Given the description of an element on the screen output the (x, y) to click on. 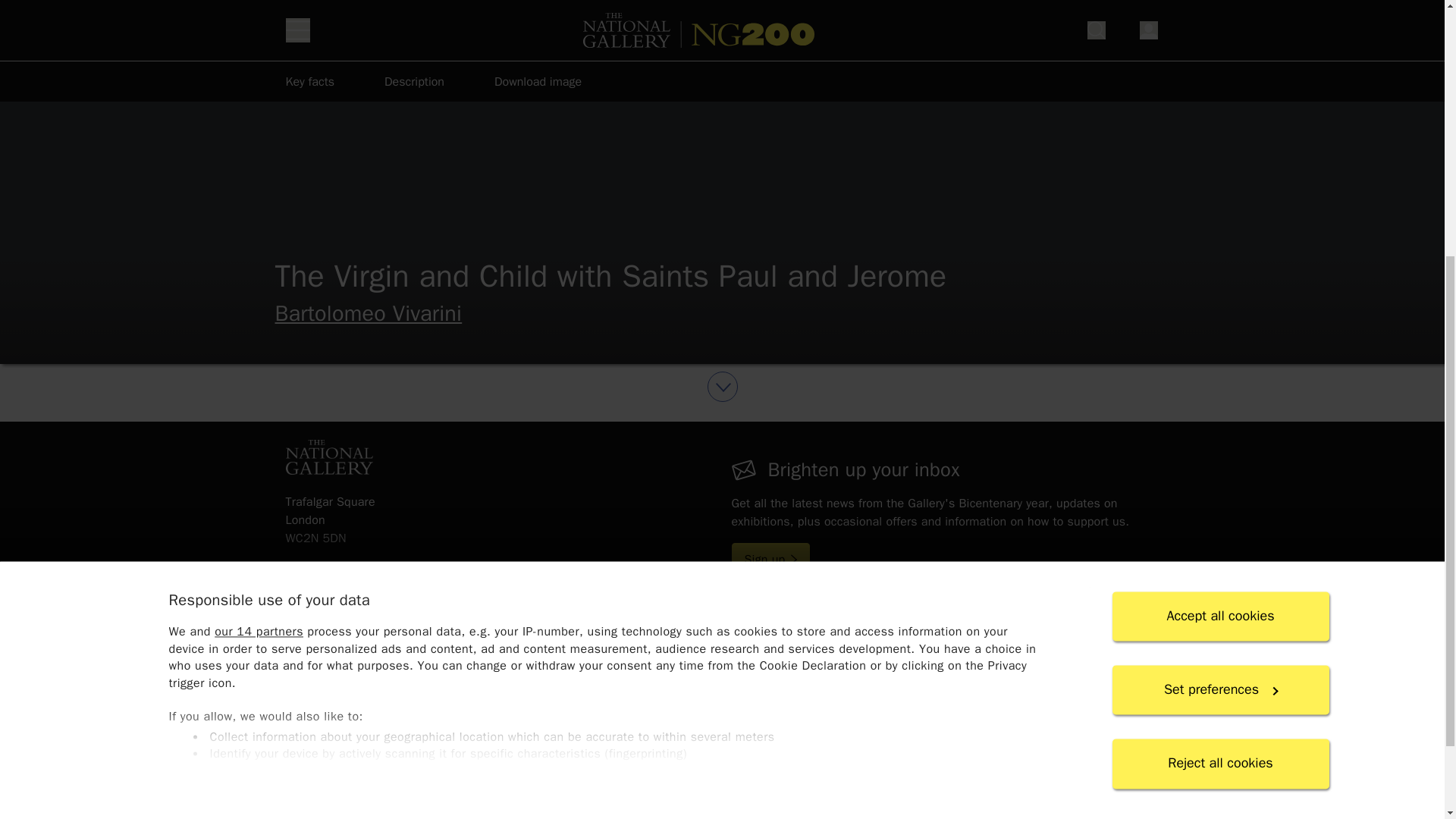
our 14 partners (258, 222)
details section (720, 363)
cookies policy (596, 422)
